Given the description of an element on the screen output the (x, y) to click on. 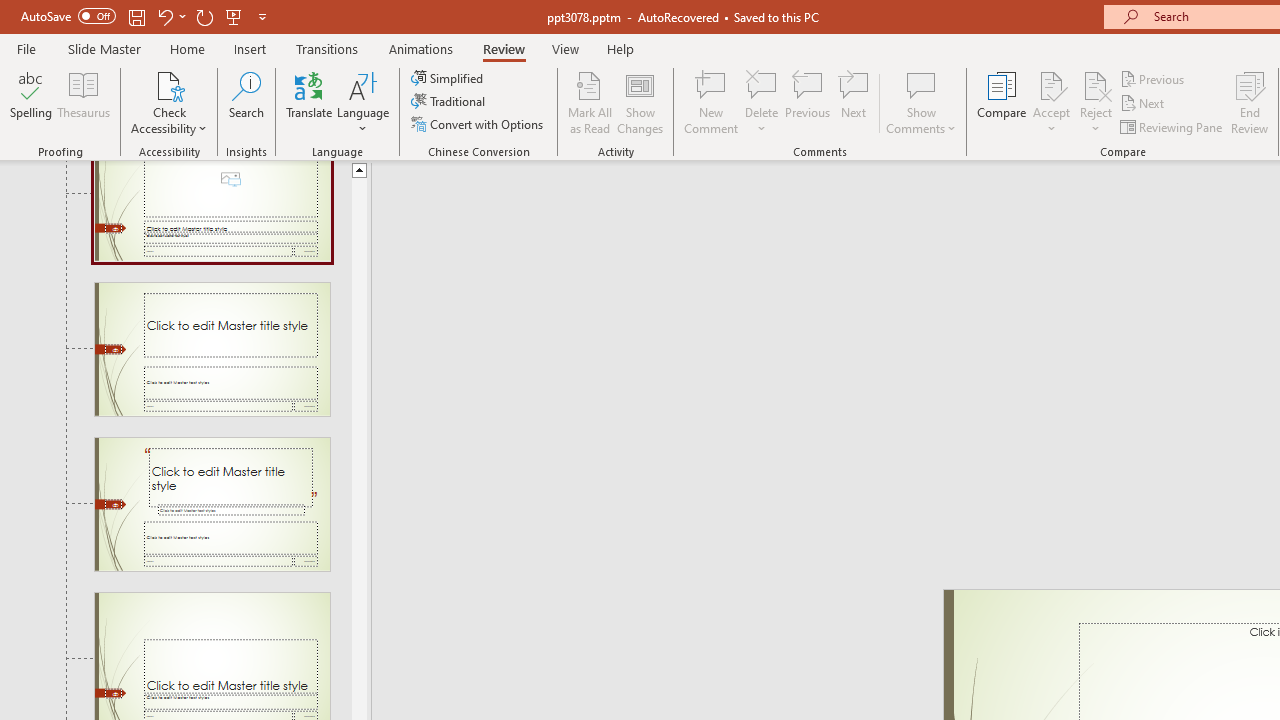
Mark All as Read (589, 102)
Language (363, 102)
Show Comments (921, 102)
Previous (1153, 78)
Slide Picture with Caption Layout: used by no slides (212, 210)
Slide Title and Caption Layout: used by no slides (212, 349)
Slide Quote with Caption Layout: used by no slides (212, 503)
Reject (1096, 102)
